Given the description of an element on the screen output the (x, y) to click on. 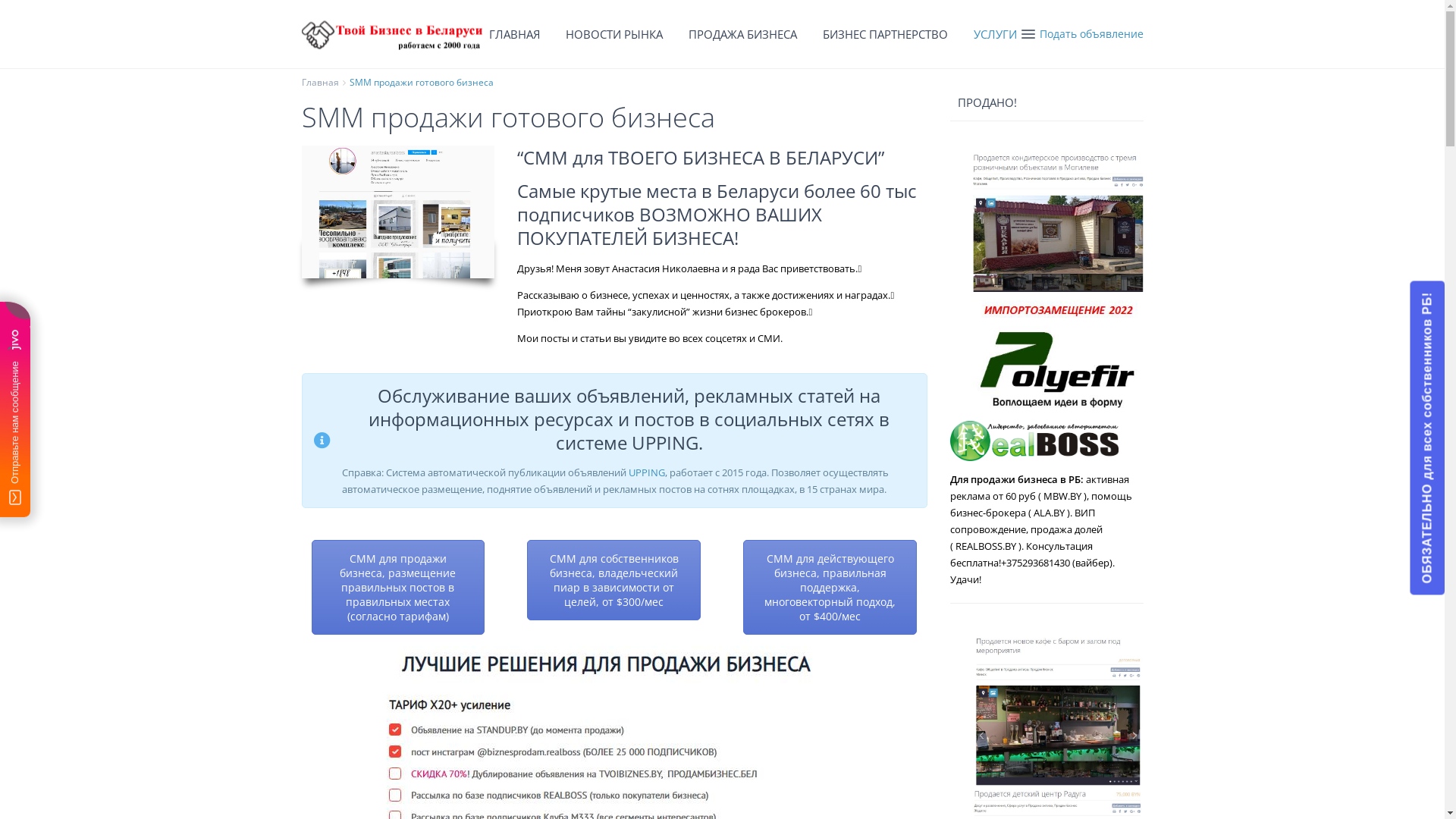
UPPING Element type: text (663, 442)
 UPPING Element type: text (645, 472)
REALBOSS.BY Element type: text (985, 545)
ALA.BY Element type: text (1047, 512)
MBW.BY Element type: text (1062, 495)
